Given the description of an element on the screen output the (x, y) to click on. 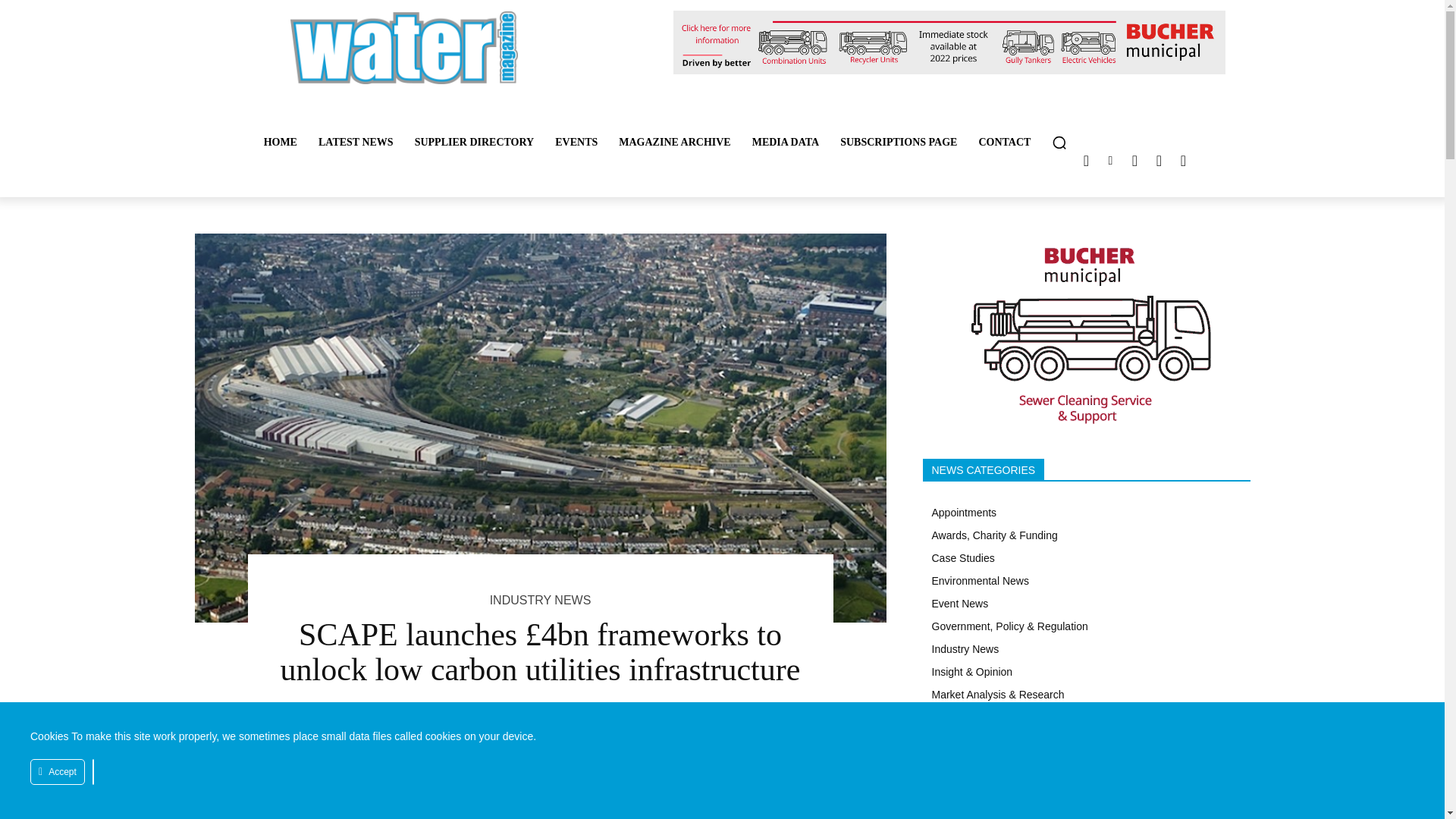
Linkedin (1110, 160)
Twitter (1085, 160)
EVENTS (576, 142)
MAGAZINE ARCHIVE (674, 142)
CONTACT (1004, 142)
MEDIA DATA (785, 142)
LATEST NEWS (355, 142)
Youtube (1182, 160)
HOME (280, 142)
SUBSCRIPTIONS PAGE (898, 142)
Facebook (1158, 160)
Instagram (1133, 160)
SUPPLIER DIRECTORY (474, 142)
